Given the description of an element on the screen output the (x, y) to click on. 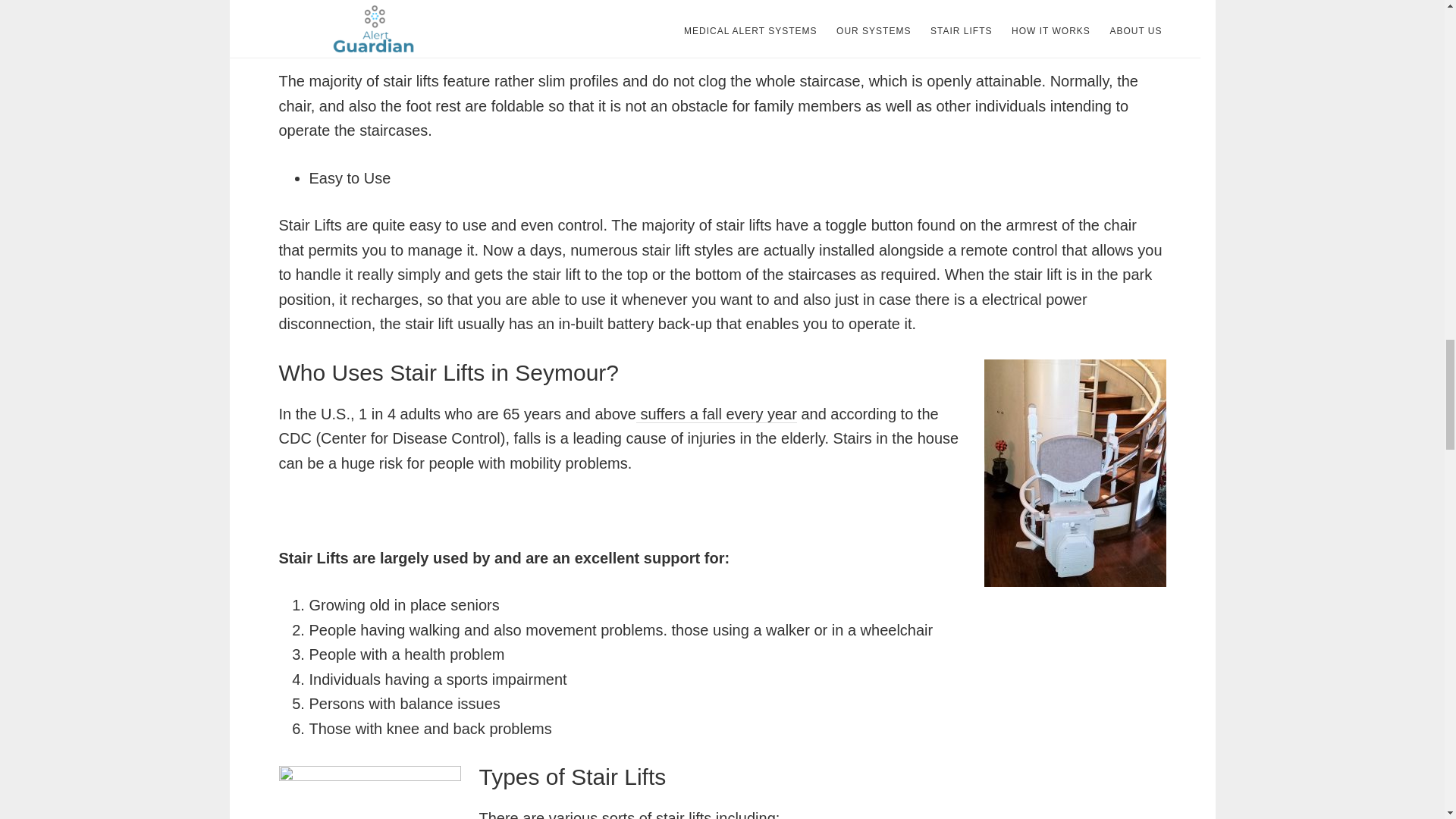
suffers a fall every year (716, 414)
